Given the description of an element on the screen output the (x, y) to click on. 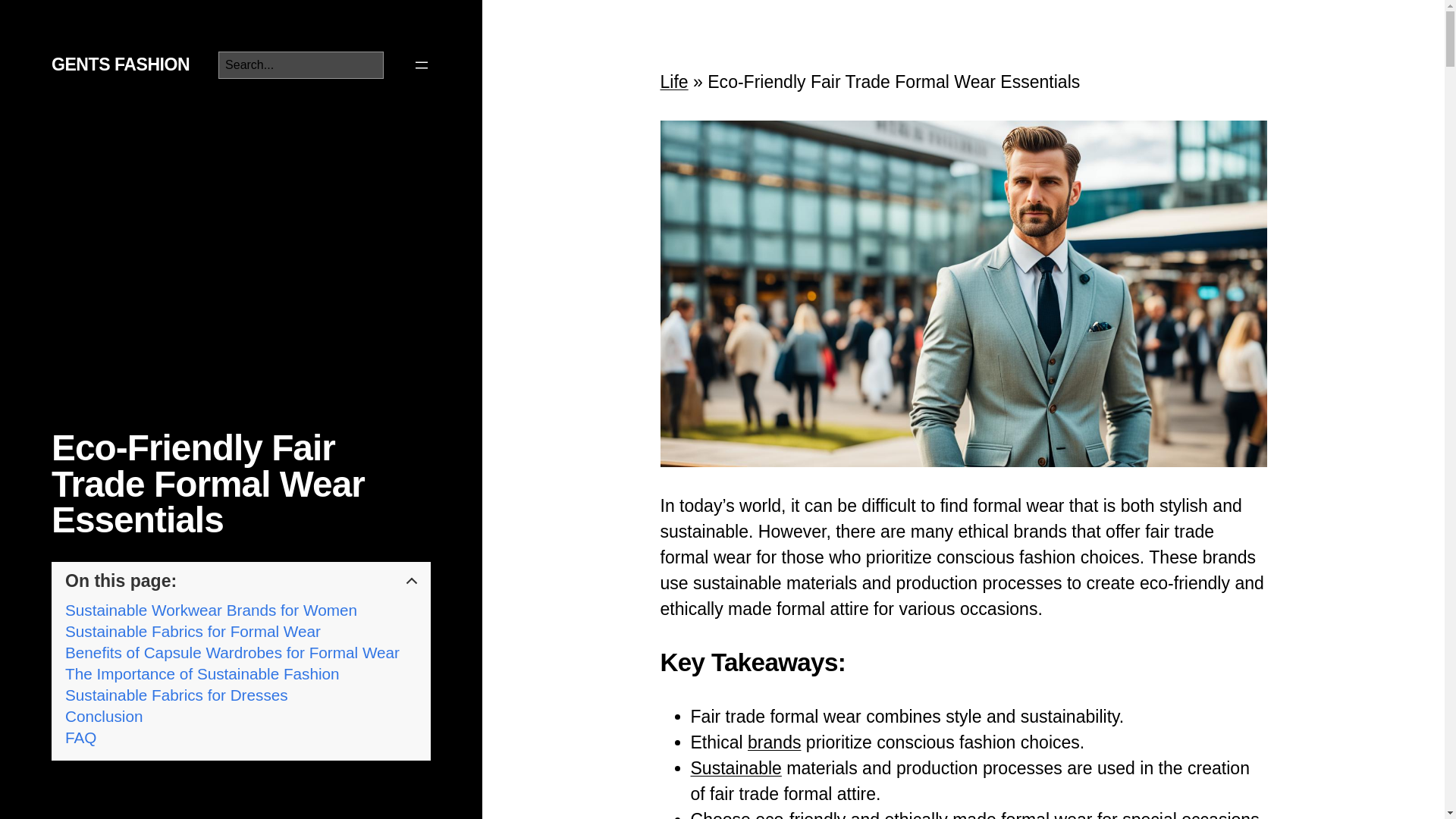
Sustainable Fabrics for Formal Wear (192, 631)
Sustainable Workwear Brands for Women (210, 610)
Sustainable (735, 768)
The Importance of Sustainable Fashion (202, 674)
Sustainable (735, 768)
The Importance of Sustainable Fashion (202, 674)
Life (673, 81)
Benefits of Capsule Wardrobes for Formal Wear (231, 652)
FAQ (80, 737)
Sustainable Fabrics for Formal Wear (192, 631)
